Given the description of an element on the screen output the (x, y) to click on. 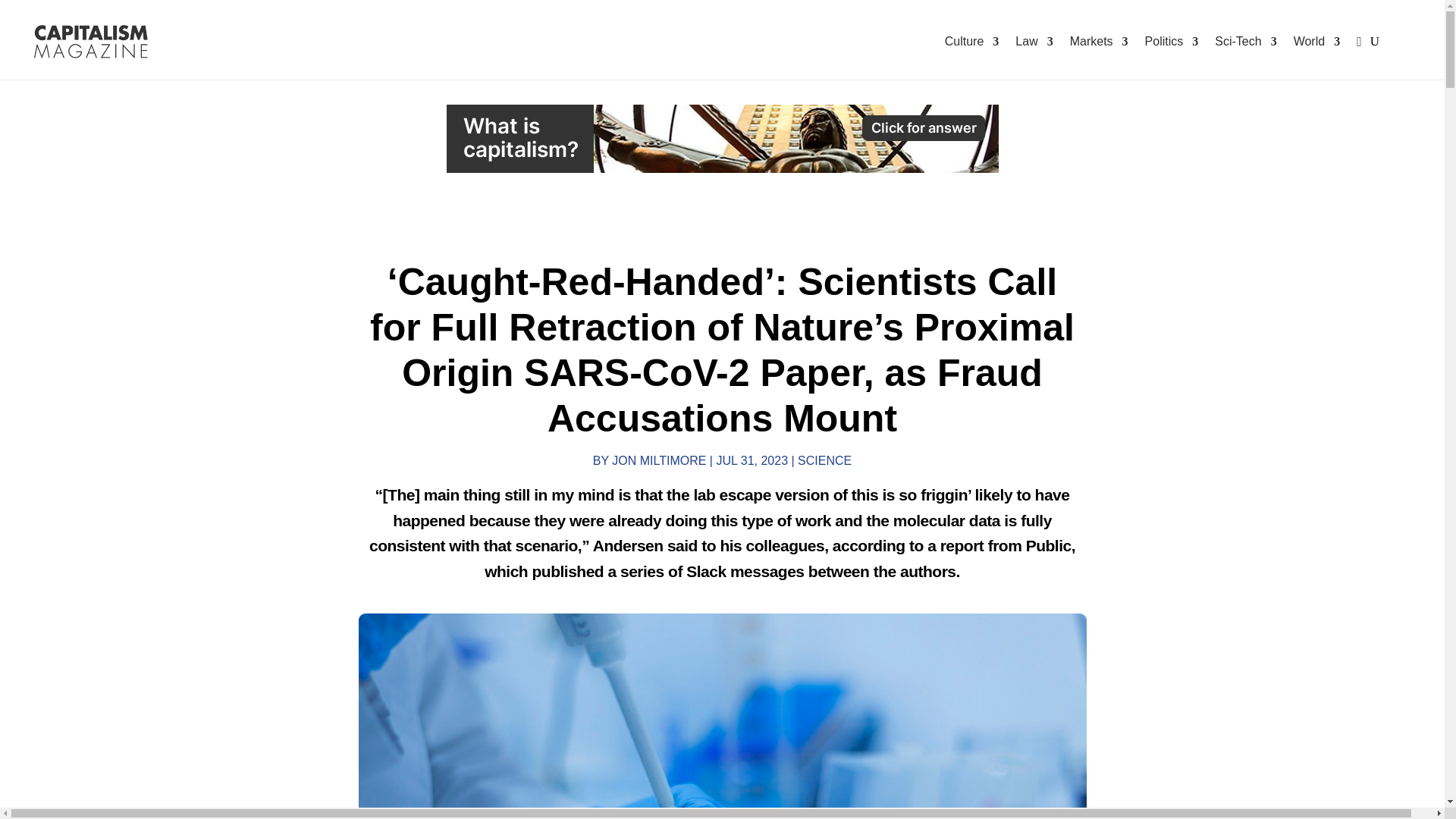
Culture (971, 41)
Markets (1099, 41)
Posts by Jon Miltimore (658, 460)
Capitalism Tour (721, 138)
